Given the description of an element on the screen output the (x, y) to click on. 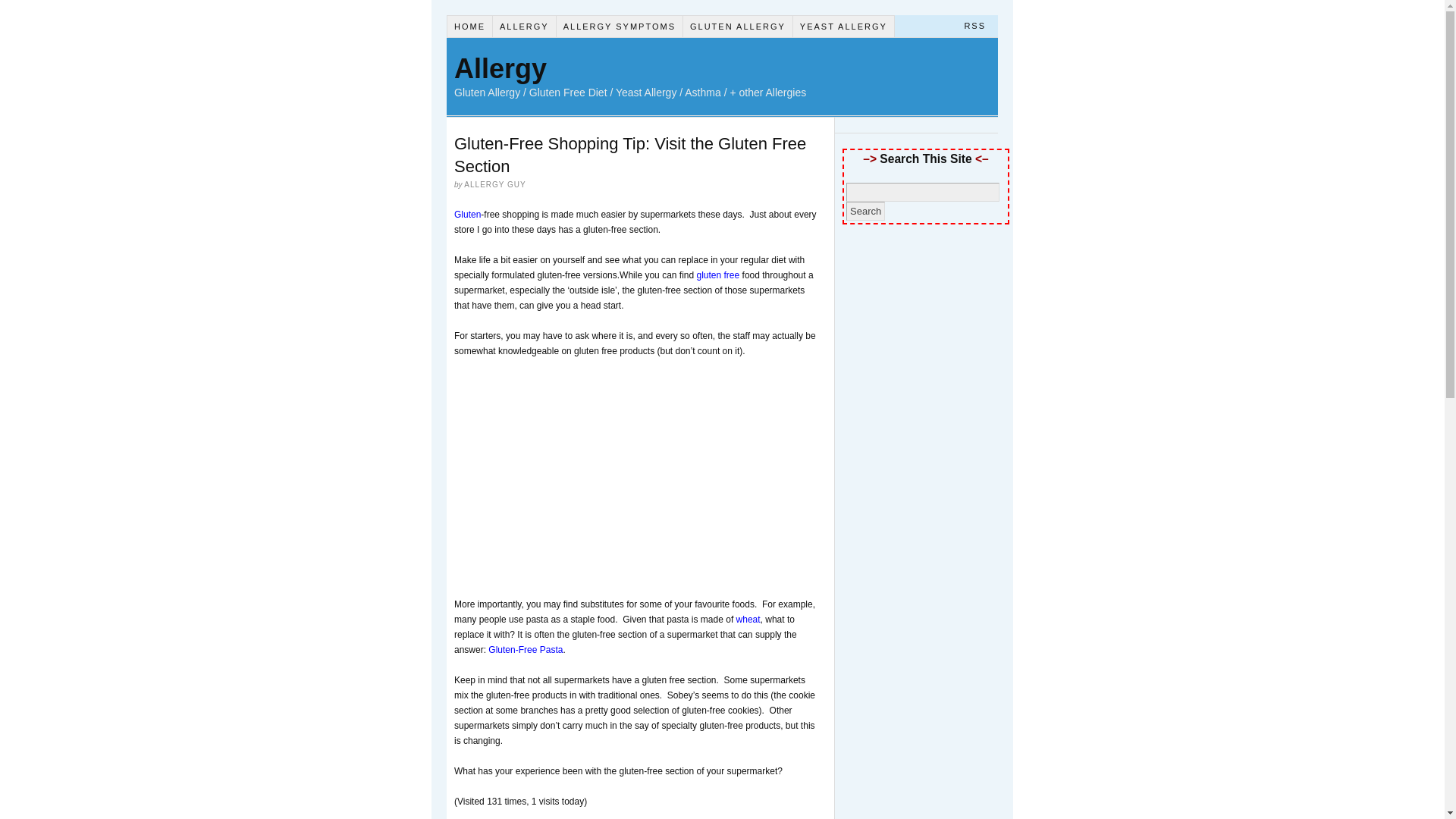
Gluten (467, 214)
Allergy (500, 68)
HOME (469, 26)
Gluten-Free Pasta (524, 649)
ALLERGY SYMPTOMS (619, 26)
ALLERGY (524, 26)
YEAST ALLERGY (844, 26)
Search (865, 210)
Advertisement (581, 479)
gluten free (717, 275)
